Given the description of an element on the screen output the (x, y) to click on. 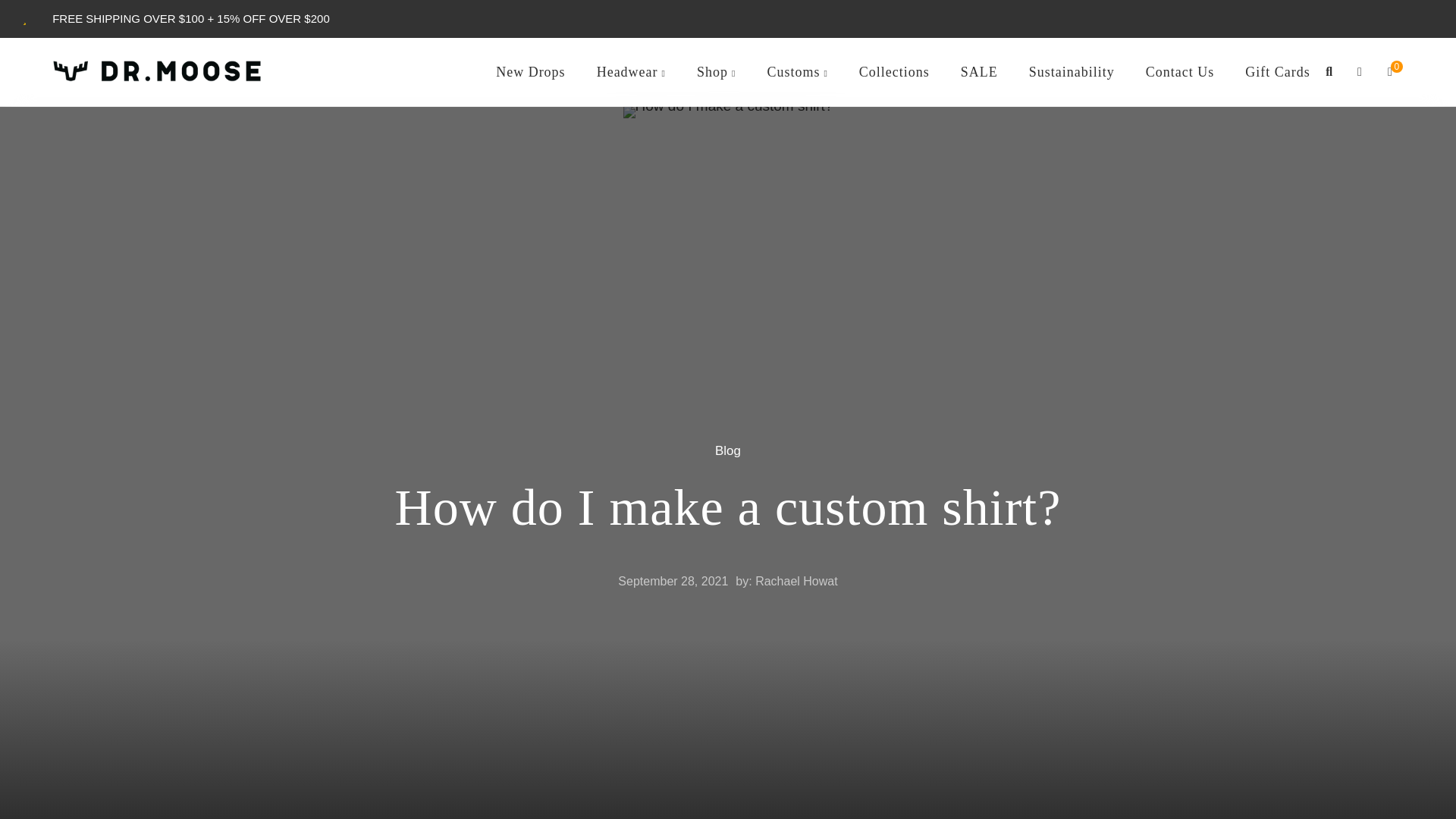
Shopping Cart (1389, 71)
Shop (716, 72)
Headwear (630, 72)
Search (1328, 71)
View all posts by Rachael Howat (796, 581)
Login (1358, 71)
Customs (796, 72)
New Drops (530, 72)
